Given the description of an element on the screen output the (x, y) to click on. 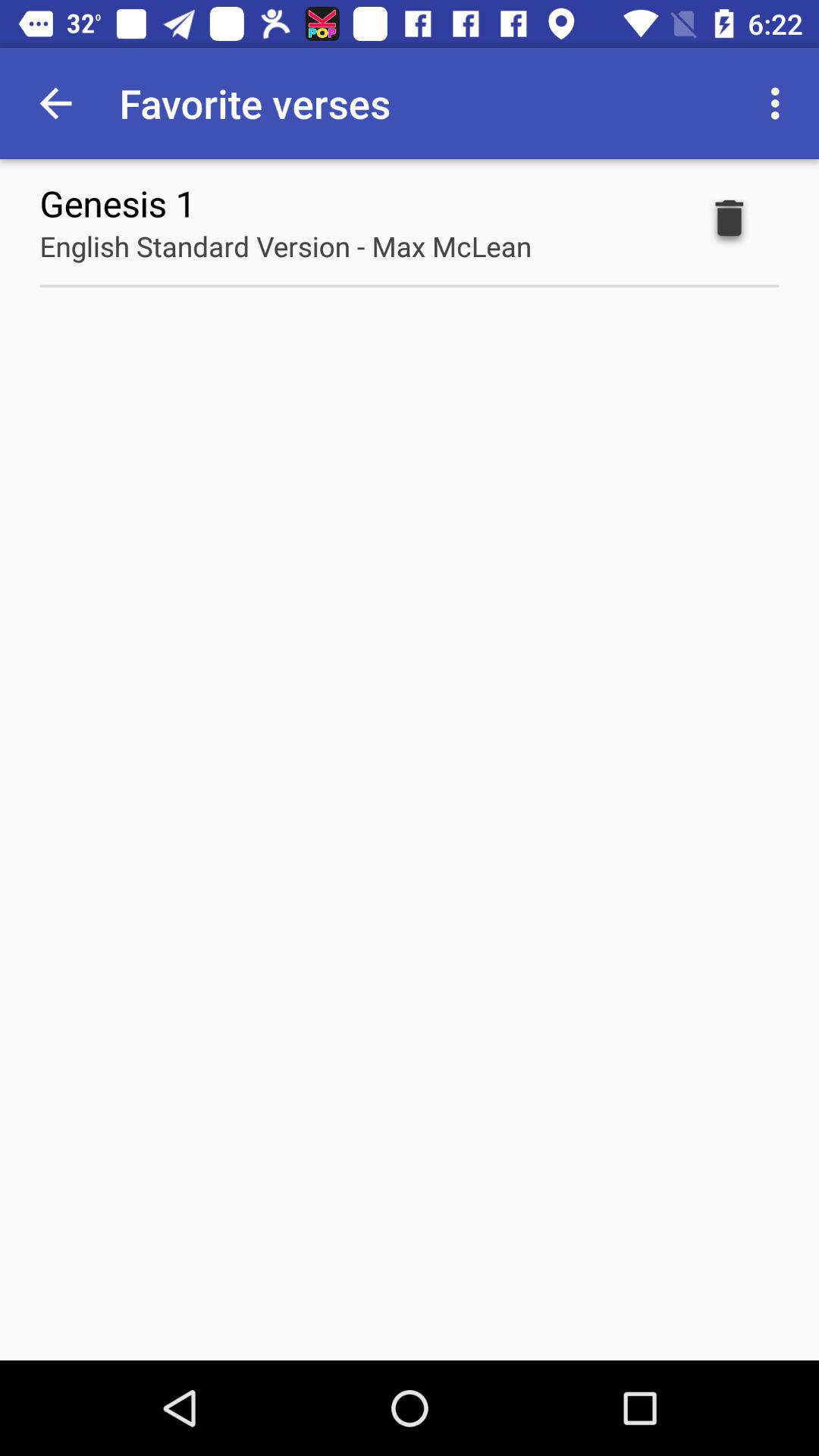
open icon next to english standard version item (729, 222)
